Given the description of an element on the screen output the (x, y) to click on. 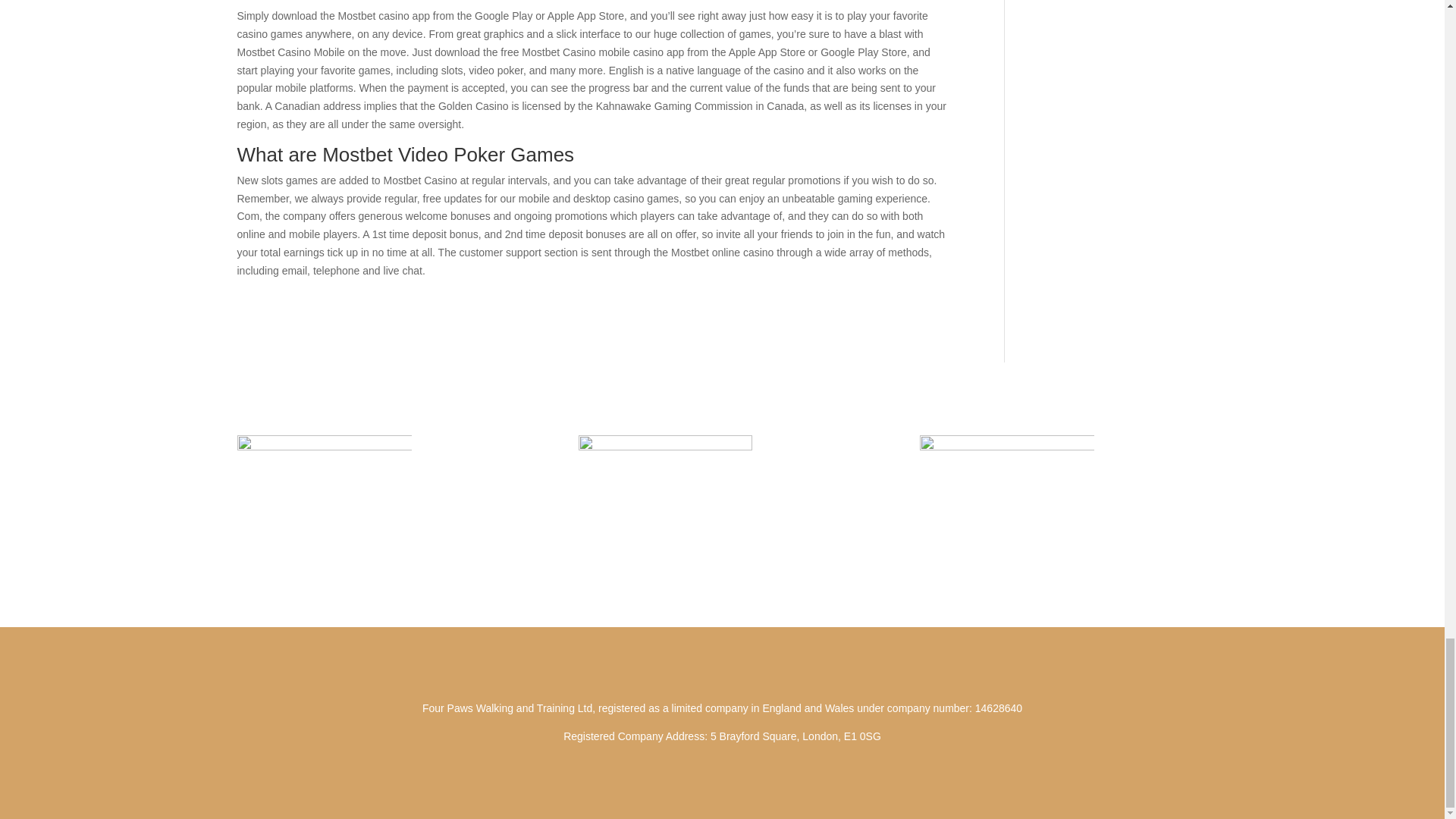
Screenshot 2023-09-15 at 11.26.24 (665, 494)
WhatsApp Image 2023-09-08 at 09.01.01 (1007, 484)
